Given the description of an element on the screen output the (x, y) to click on. 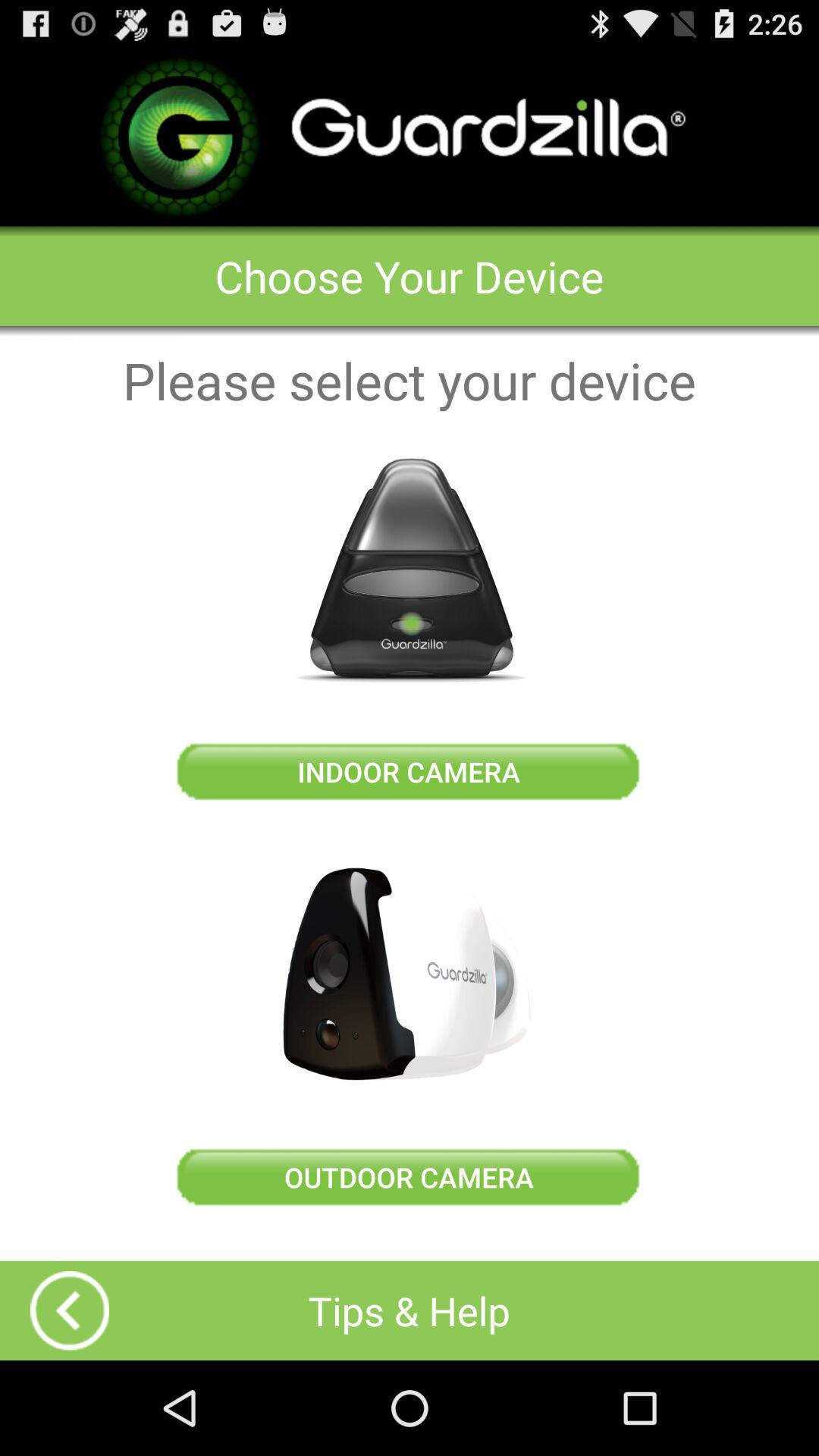
show video (69, 1310)
